Given the description of an element on the screen output the (x, y) to click on. 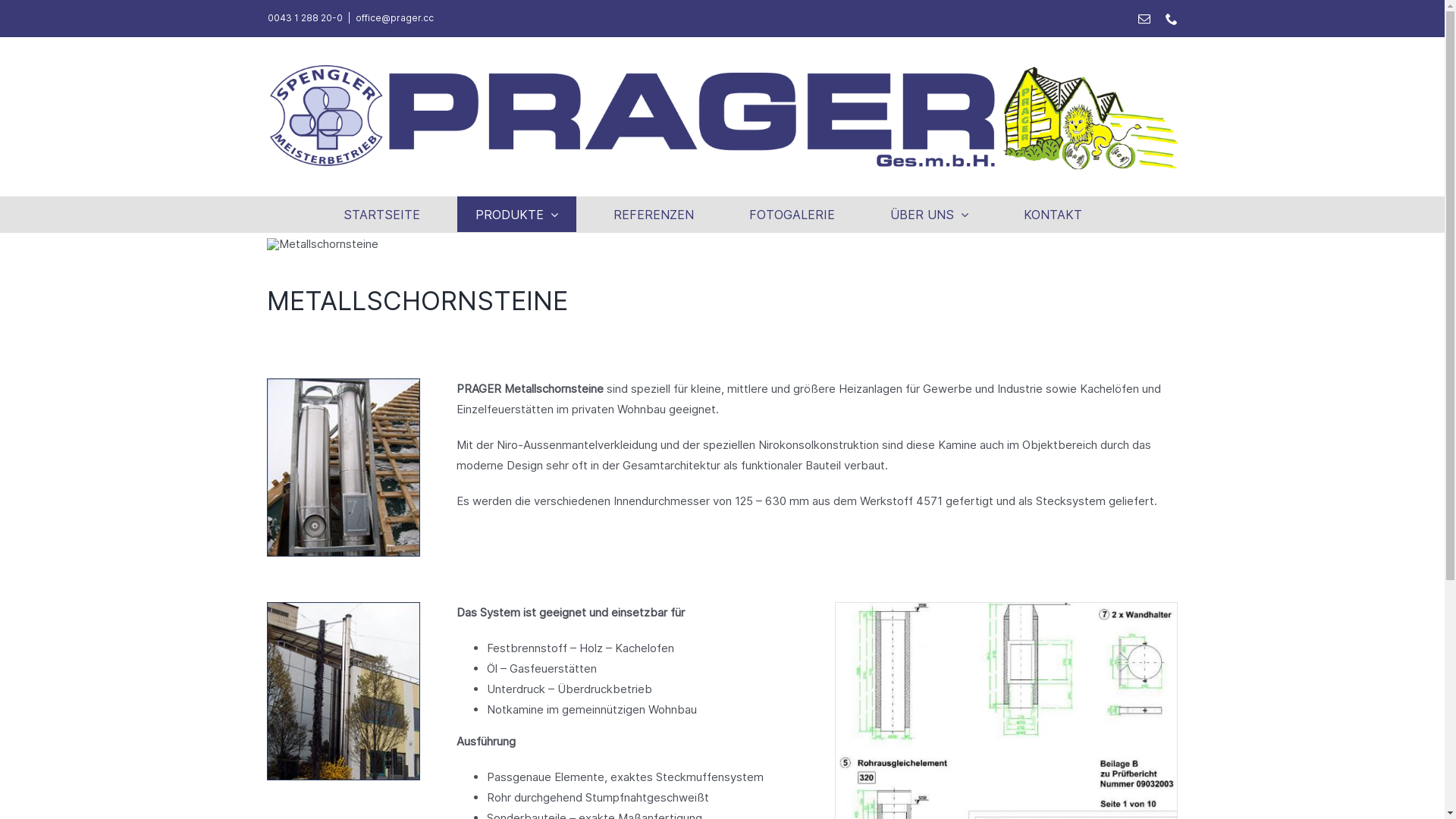
REFERENZEN Element type: text (653, 214)
Metallschornsteine Element type: hover (322, 244)
office@prager.cc Element type: text (393, 17)
PRODUKTE Element type: text (516, 214)
METALLSCHORNSTEINE Element type: hover (343, 691)
KONTAKT Element type: text (1052, 214)
STARTSEITE Element type: text (381, 214)
E-Mail Element type: text (1143, 18)
Telefon Element type: text (1170, 18)
METALLSCHORNSTEINE Element type: hover (343, 467)
FOTOGALERIE Element type: text (792, 214)
